Given the description of an element on the screen output the (x, y) to click on. 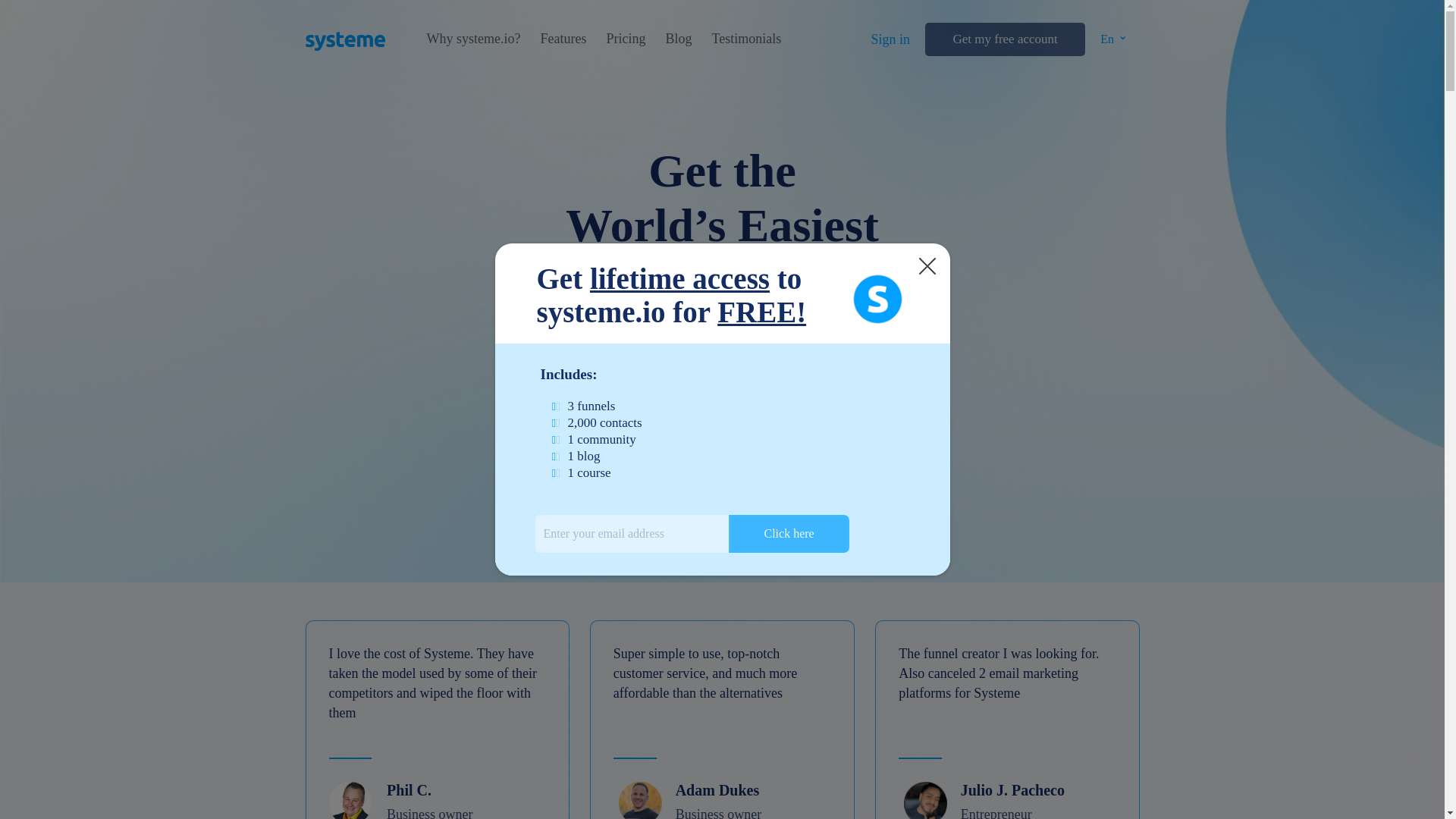
Features (563, 38)
Get my free account (1004, 39)
Why systeme.io? (472, 38)
Testimonials (745, 38)
Pricing (625, 38)
Sign in (890, 39)
Blog (678, 38)
